Given the description of an element on the screen output the (x, y) to click on. 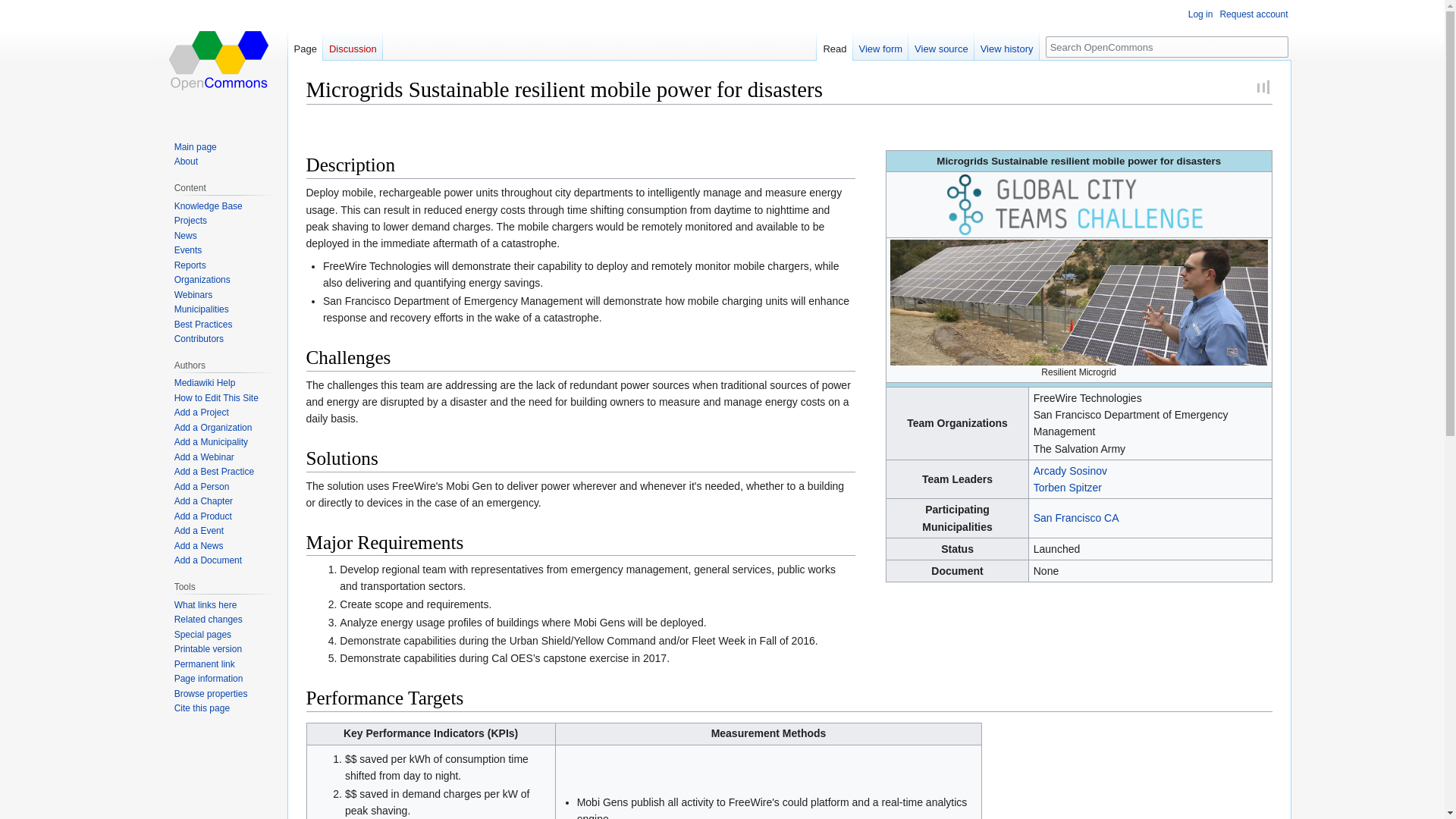
Torben Spitzer (1067, 487)
Main page (195, 146)
View history (1006, 45)
Webinars (193, 294)
Best Practices (203, 324)
Events (188, 249)
Torben Spitzer (1067, 487)
Arcady Sosinov (1069, 470)
Discussion (352, 45)
View form (880, 45)
Add a Project (201, 412)
How to Edit This Site (216, 398)
View source (941, 45)
Municipalities (201, 308)
Page (305, 45)
